Given the description of an element on the screen output the (x, y) to click on. 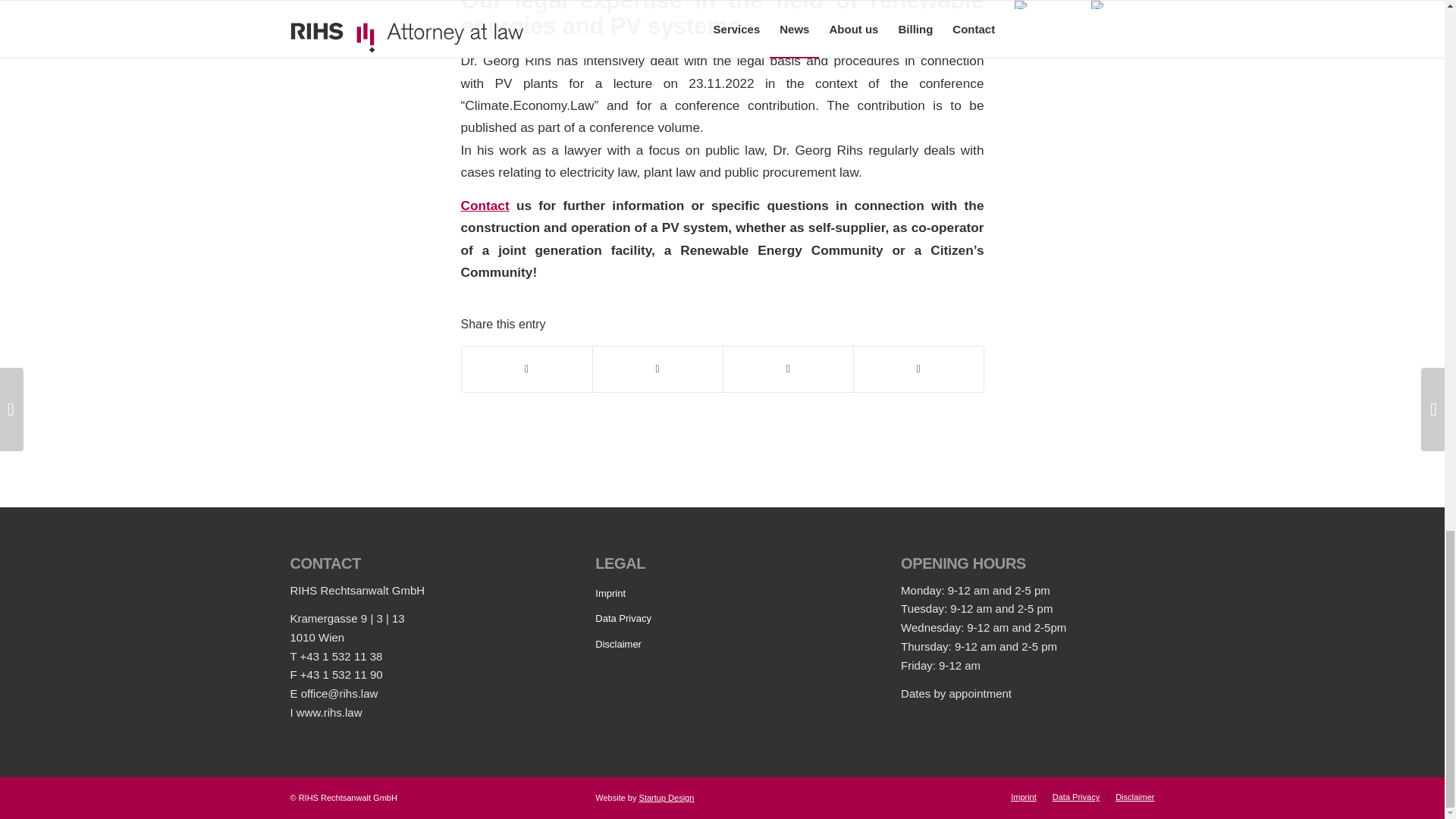
Startup Design (666, 797)
Imprint (1023, 796)
Disclaimer (721, 645)
Imprint (721, 594)
Data Privacy (721, 619)
Contact (485, 205)
